Given the description of an element on the screen output the (x, y) to click on. 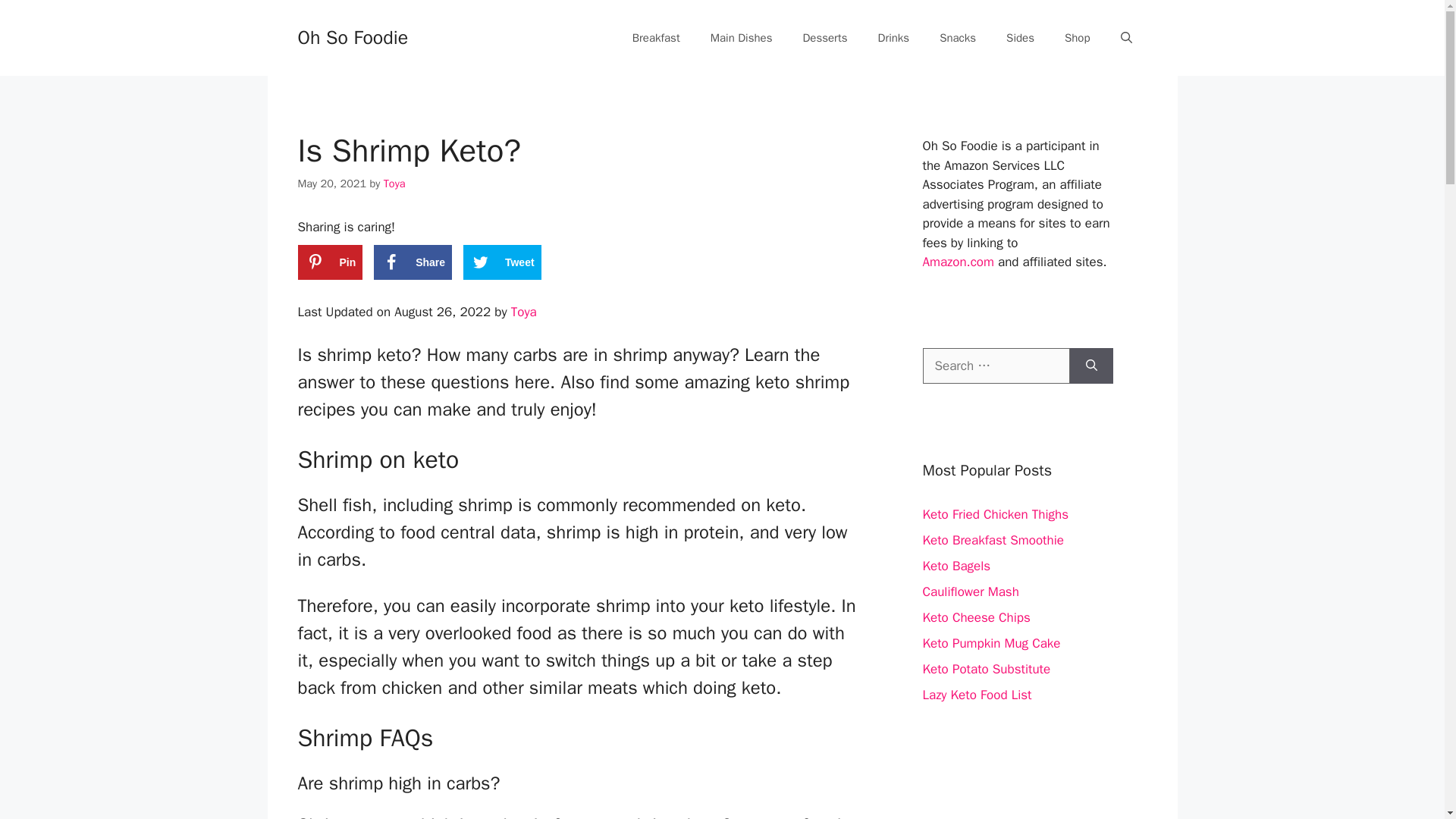
Share on Facebook (412, 262)
Search for: (994, 365)
Snacks (957, 37)
Oh So Foodie (352, 37)
Sides (1020, 37)
Breakfast (656, 37)
Drinks (893, 37)
Toya (524, 311)
Keto Pumpkin Mug Cake (990, 643)
Keto Fried Chicken Thighs (994, 514)
Save to Pinterest (329, 262)
Share on Twitter (502, 262)
View all posts by Toya (395, 183)
Tweet (502, 262)
Desserts (824, 37)
